Given the description of an element on the screen output the (x, y) to click on. 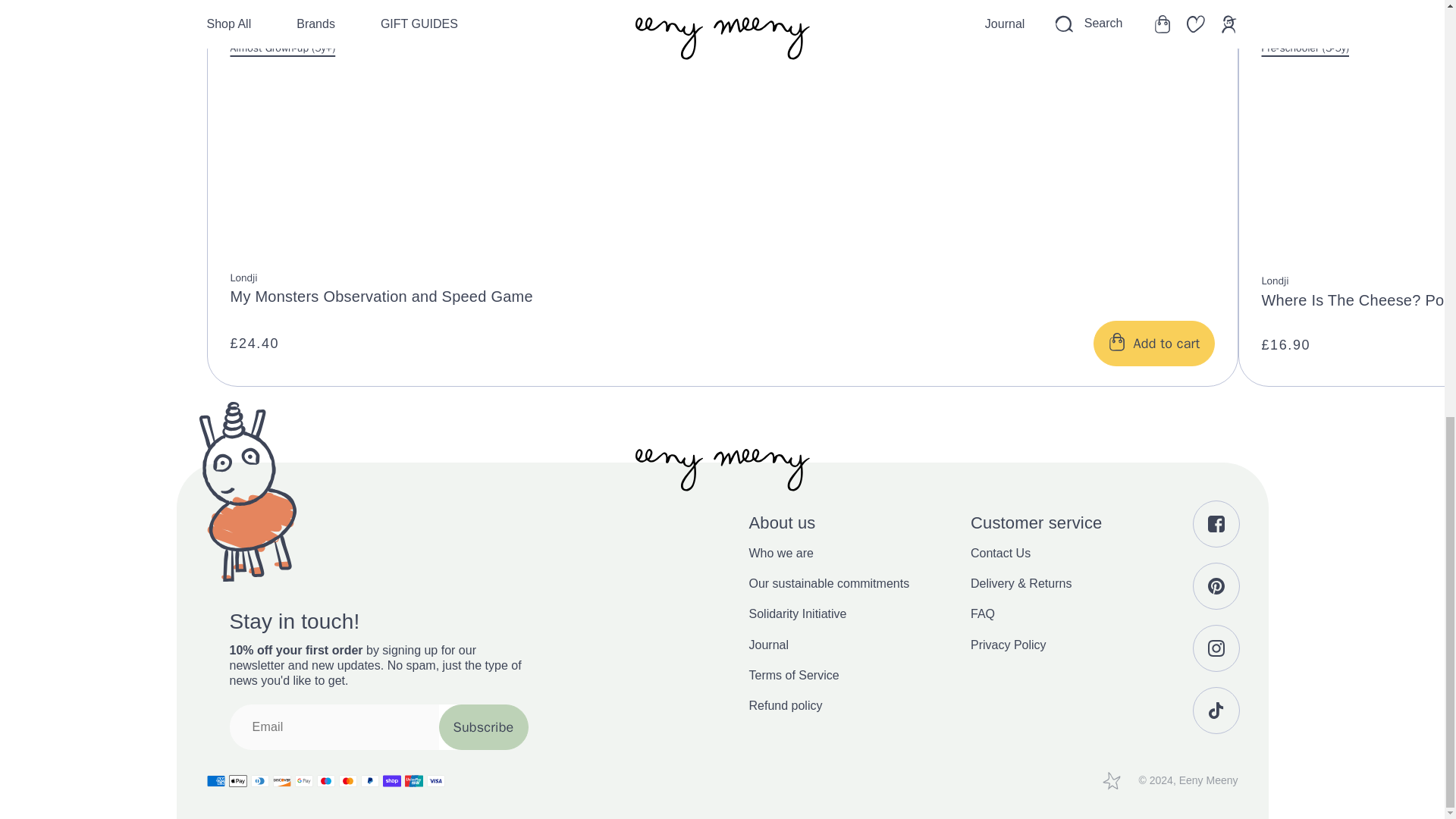
American Express (215, 781)
Discover (282, 781)
Apple Pay (237, 781)
Diners Club (258, 781)
